Given the description of an element on the screen output the (x, y) to click on. 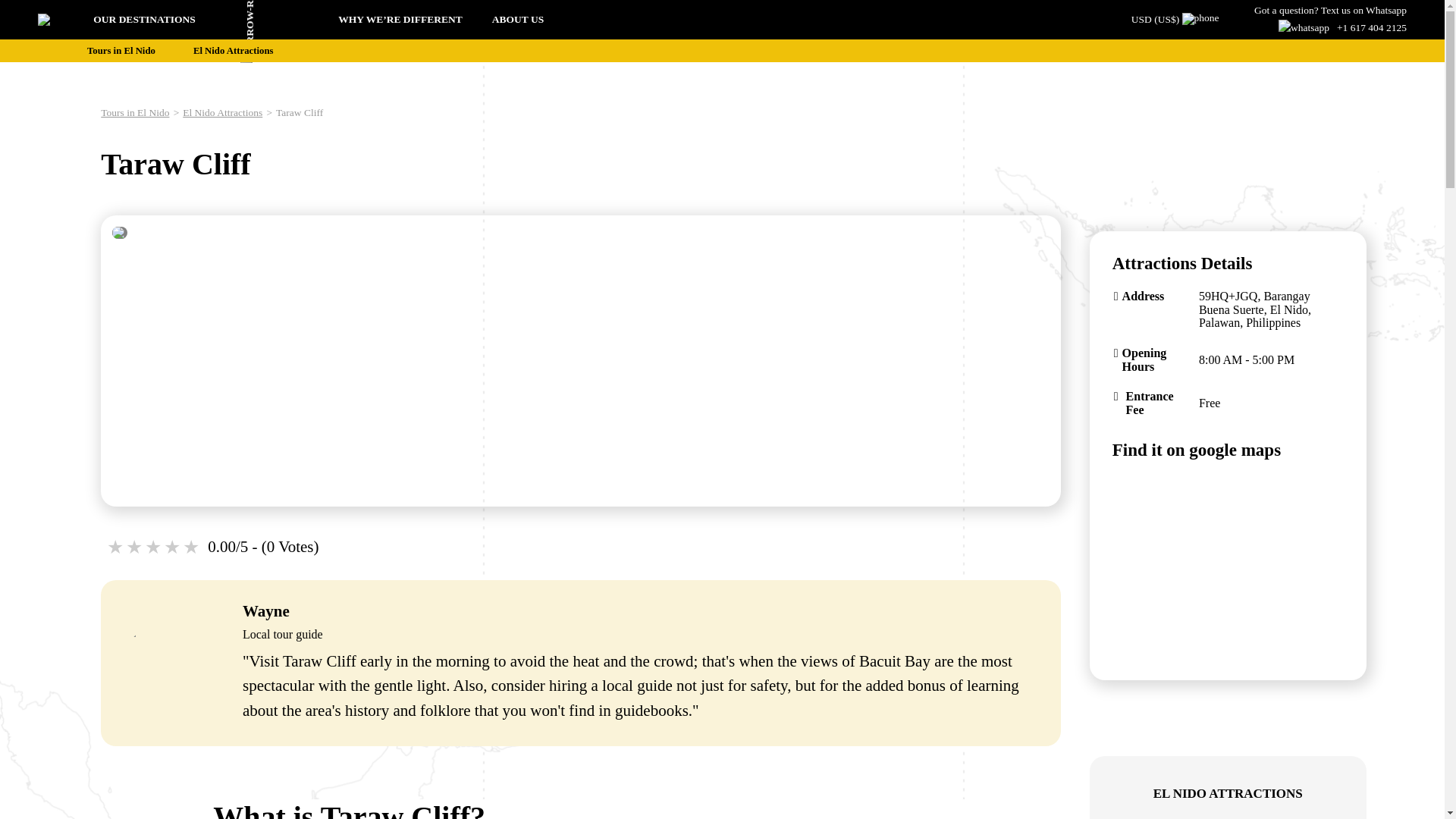
3 stars (153, 547)
2 stars (134, 547)
OUR DESTINATIONS (194, 19)
5 stars (192, 547)
4 stars (173, 547)
1 stars (115, 547)
